Given the description of an element on the screen output the (x, y) to click on. 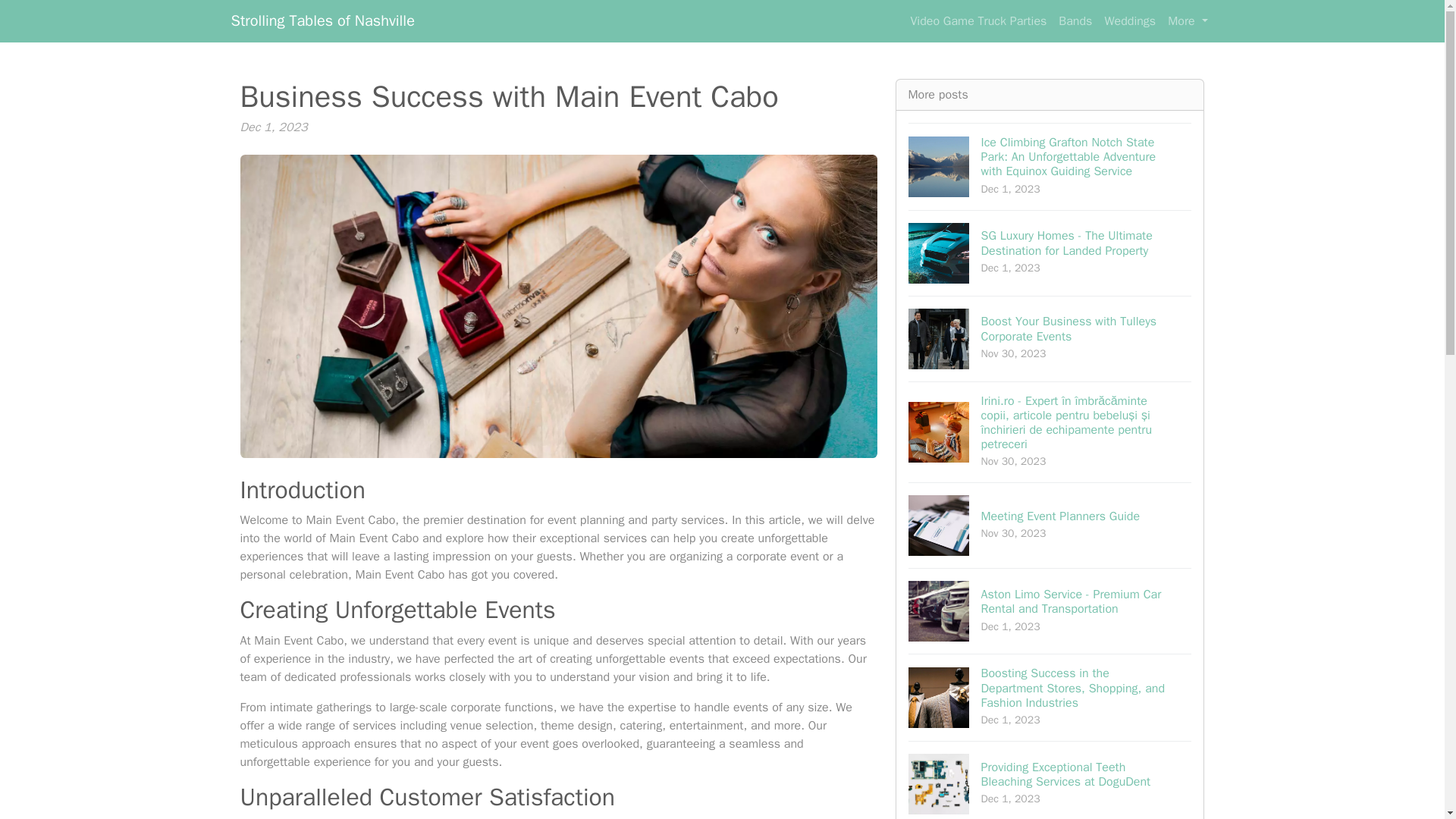
Video Game Truck Parties (978, 20)
Weddings (1129, 20)
Bands (1050, 525)
Strolling Tables of Nashville (1074, 20)
More (321, 20)
